Given the description of an element on the screen output the (x, y) to click on. 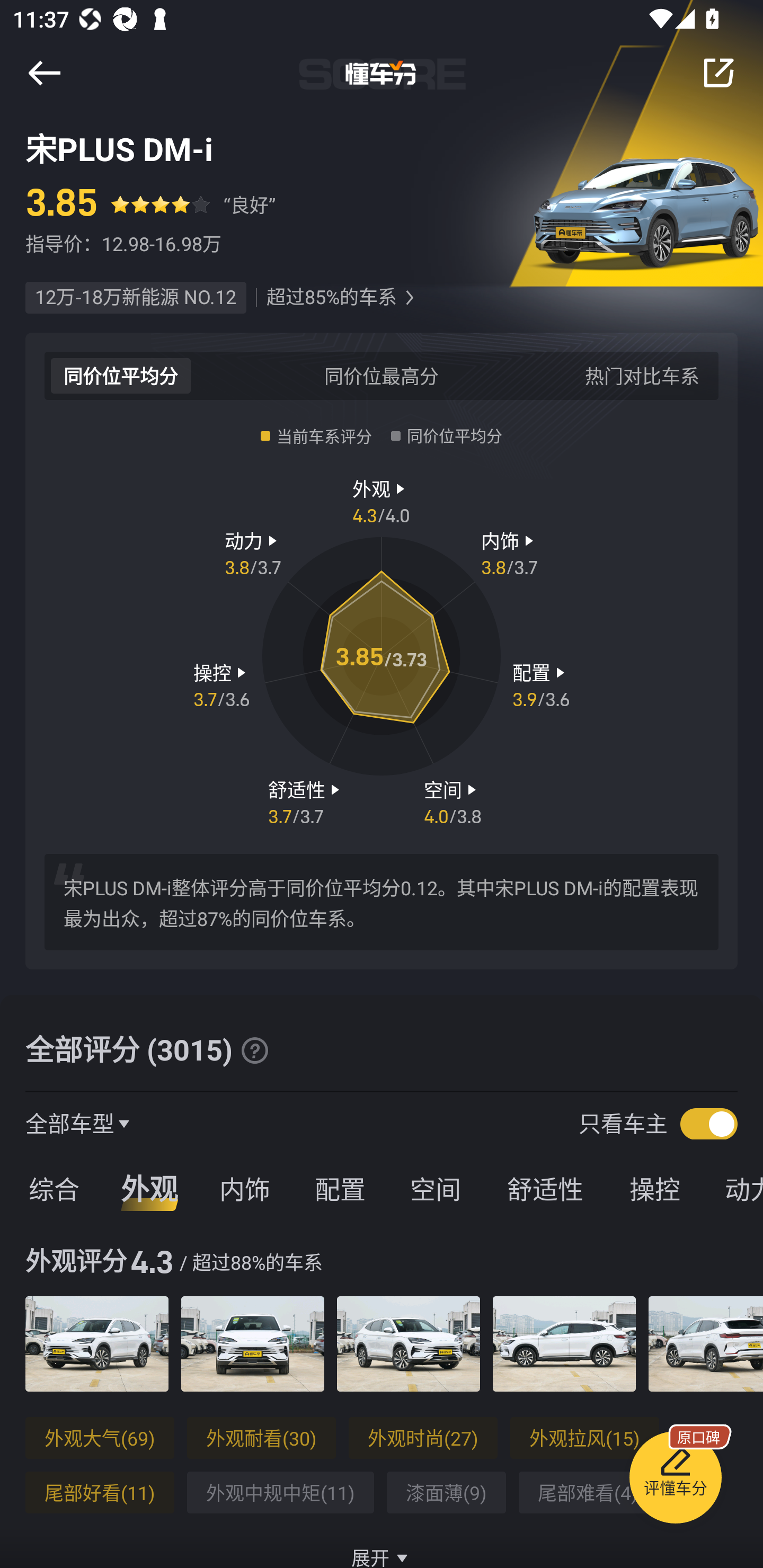
 (44, 72)
 (718, 72)
超过85%的车系 (331, 297)
 (408, 297)
同价位平均分 (120, 375)
同价位最高分 (381, 375)
热门对比车系 (641, 375)
外观  4.3 / 4.0 (381, 500)
动力  3.8 / 3.7 (252, 552)
内饰  3.8 / 3.7 (509, 552)
操控  3.7 / 3.6 (221, 685)
配置  3.9 / 3.6 (540, 685)
舒适性  3.7 / 3.7 (305, 801)
空间  4.0 / 3.8 (452, 801)
 (254, 1050)
全部车型 (69, 1123)
综合 (50, 1188)
内饰 (244, 1188)
配置 (339, 1188)
空间 (434, 1188)
舒适性 (544, 1188)
操控 (654, 1188)
外观大气(69) (99, 1437)
外观耐看(30) (260, 1437)
外观时尚(27) (422, 1437)
外观拉风(15) (584, 1437)
 评懂车分 原口碑 (675, 1480)
尾部好看(11) (99, 1492)
外观中规中矩(11) (279, 1492)
漆面薄(9) (445, 1492)
尾部难看(4) (587, 1492)
展开  (381, 1546)
